Given the description of an element on the screen output the (x, y) to click on. 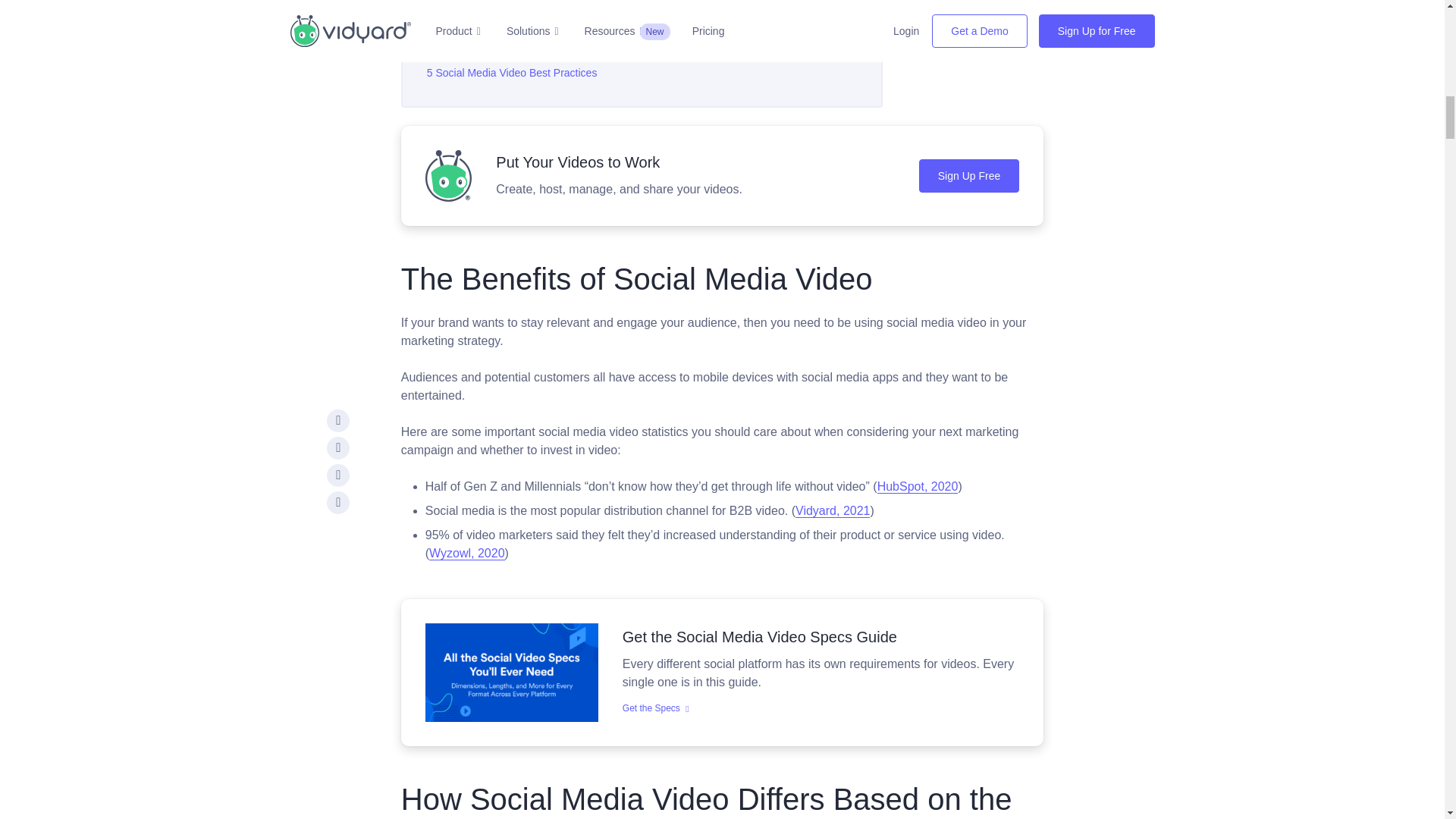
Get the Specs (511, 672)
